Given the description of an element on the screen output the (x, y) to click on. 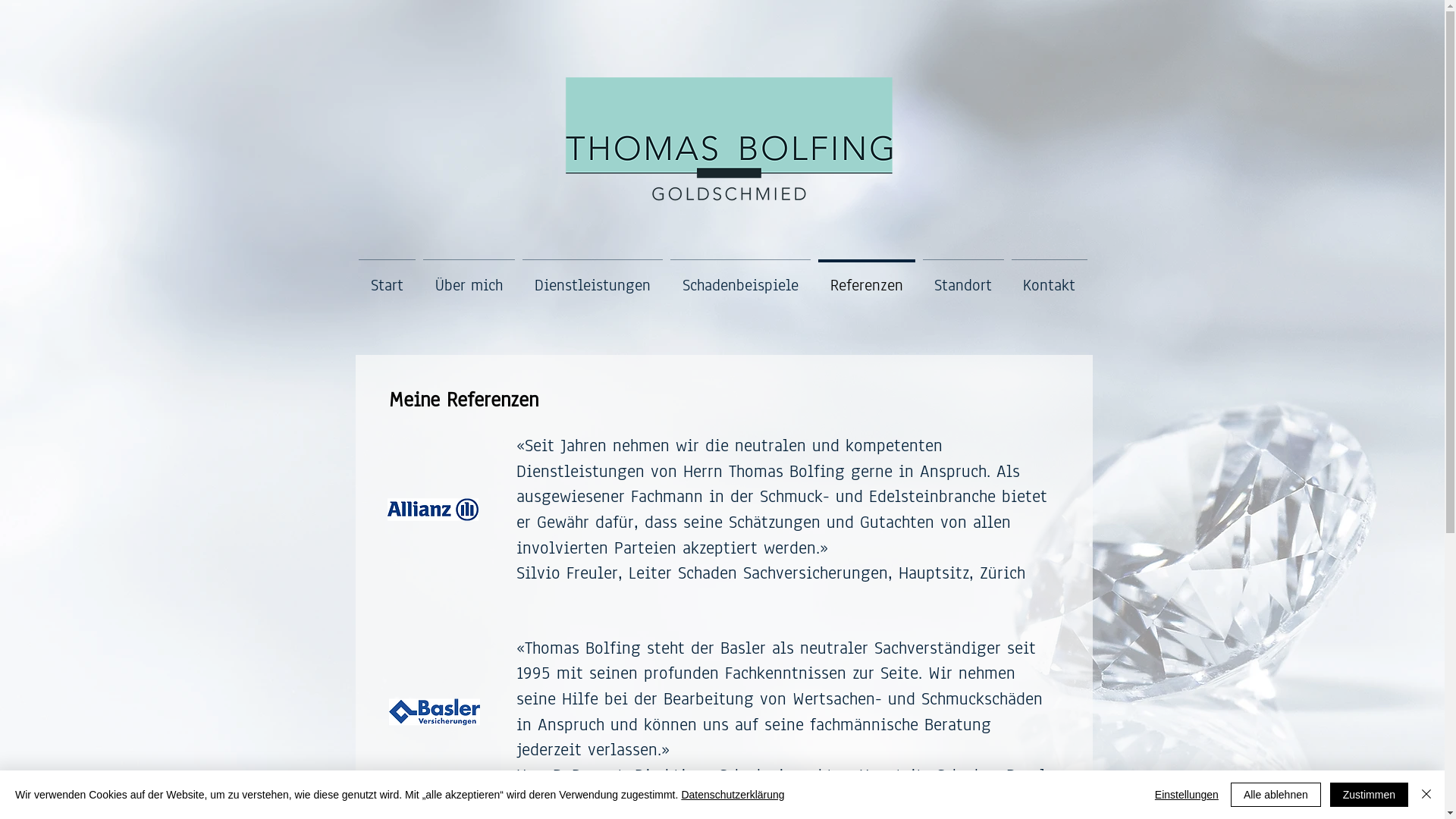
Alle ablehnen Element type: text (1275, 794)
Start Element type: text (386, 278)
Zustimmen Element type: text (1369, 794)
Kontakt Element type: text (1048, 278)
Referenzen Element type: text (866, 278)
Standort Element type: text (963, 278)
Dienstleistungen Element type: text (592, 278)
Schadenbeispiele Element type: text (739, 278)
